Given the description of an element on the screen output the (x, y) to click on. 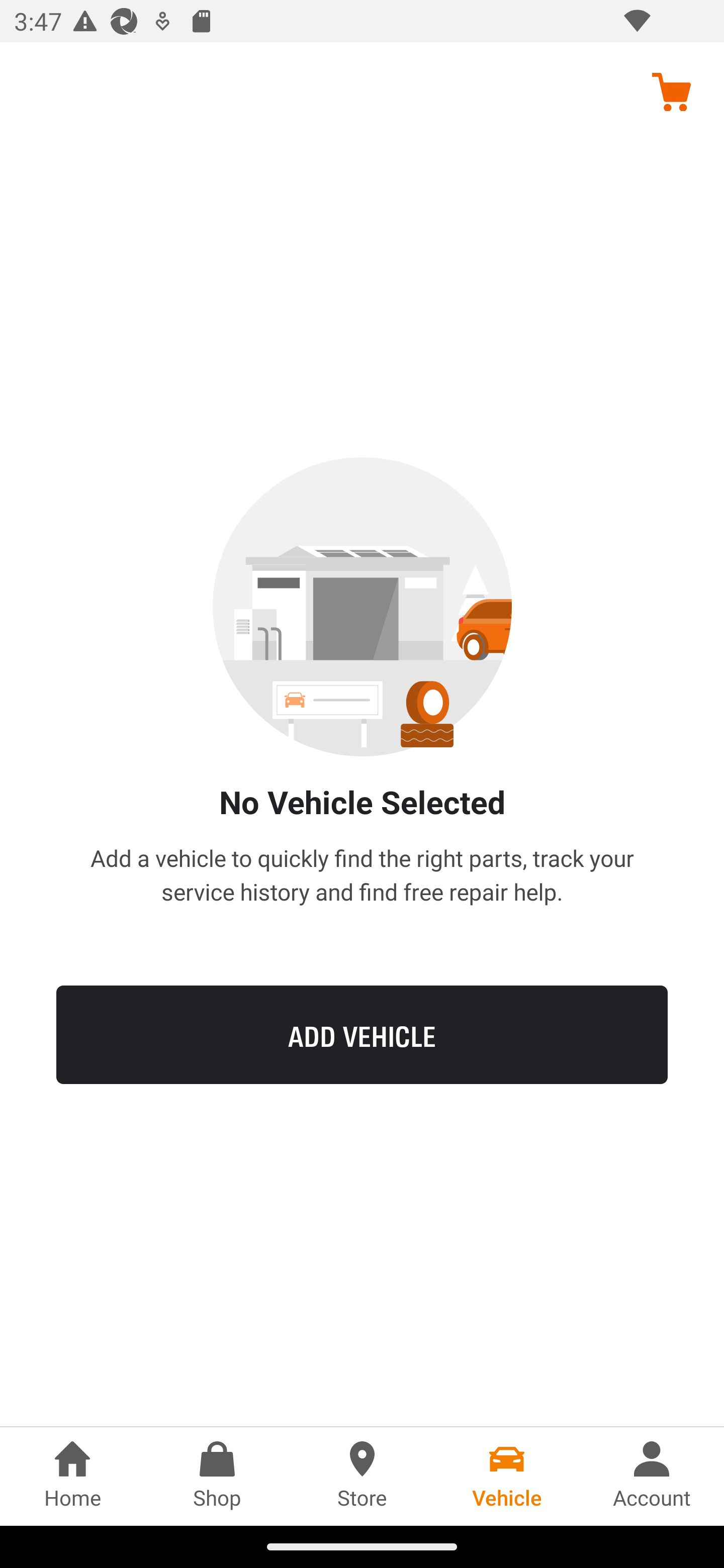
Cart, no items  (670, 91)
ADD VEHICLE (361, 1034)
Home (72, 1475)
Shop (216, 1475)
Store (361, 1475)
Vehicle (506, 1475)
Account (651, 1475)
